Given the description of an element on the screen output the (x, y) to click on. 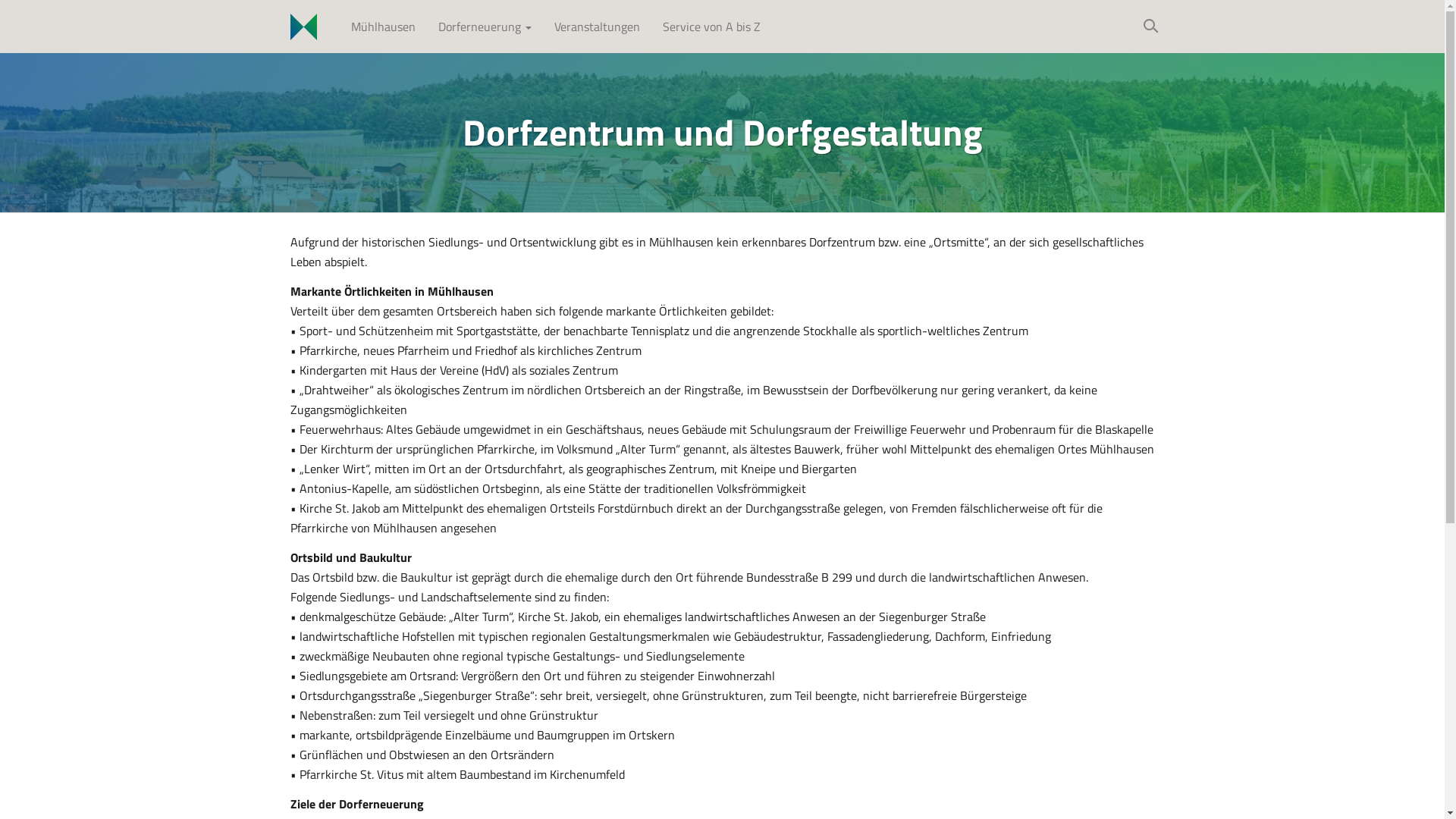
Service von A bis Z Element type: text (710, 26)
Veranstaltungen Element type: text (596, 26)
Suche Element type: text (1150, 26)
Dorferneuerung Element type: text (484, 26)
